Given the description of an element on the screen output the (x, y) to click on. 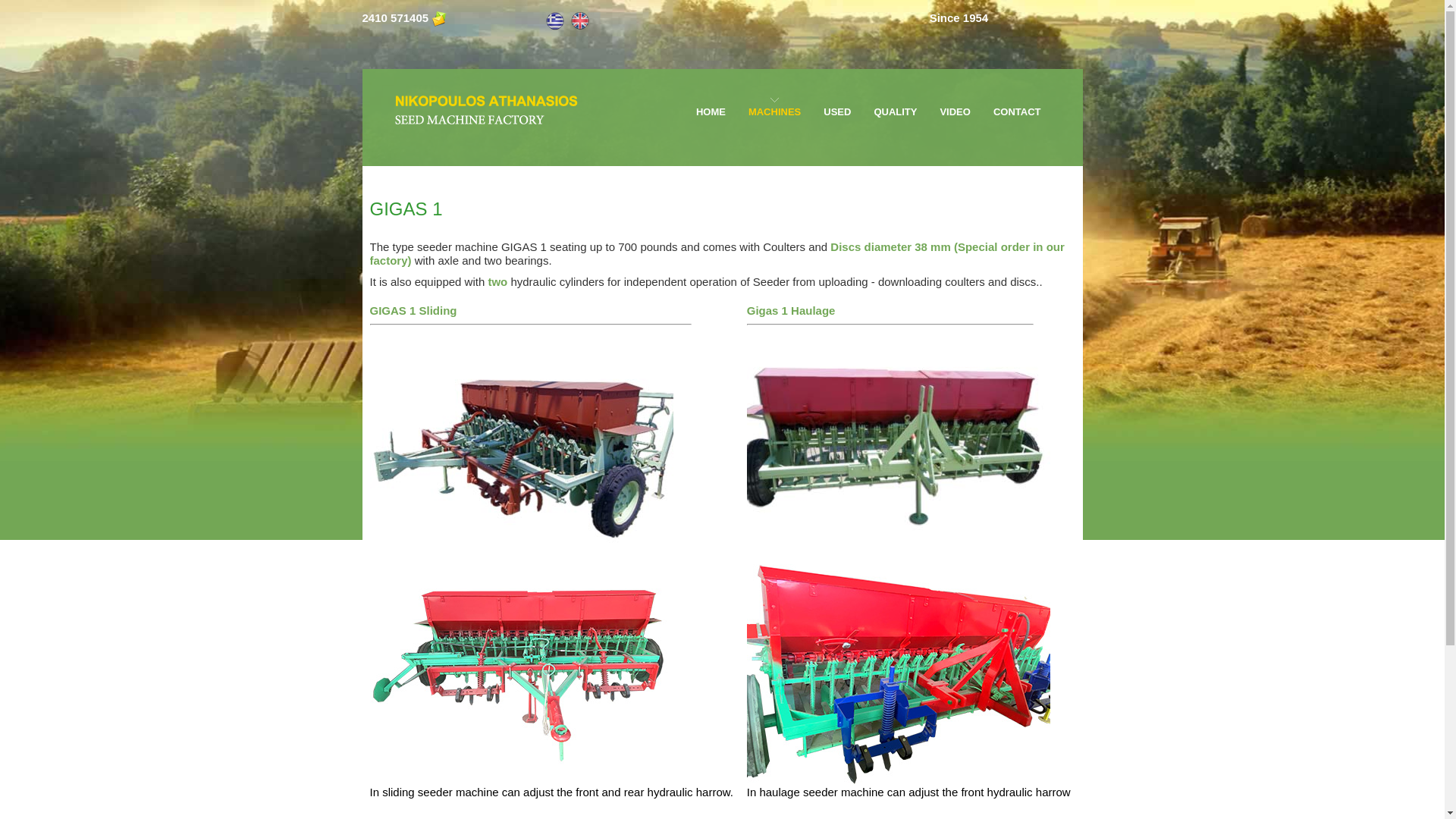
HOME (710, 107)
CONTACT (1016, 107)
QUALITY (895, 107)
MACHINES (774, 107)
USED (837, 107)
VIDEO (954, 107)
